Given the description of an element on the screen output the (x, y) to click on. 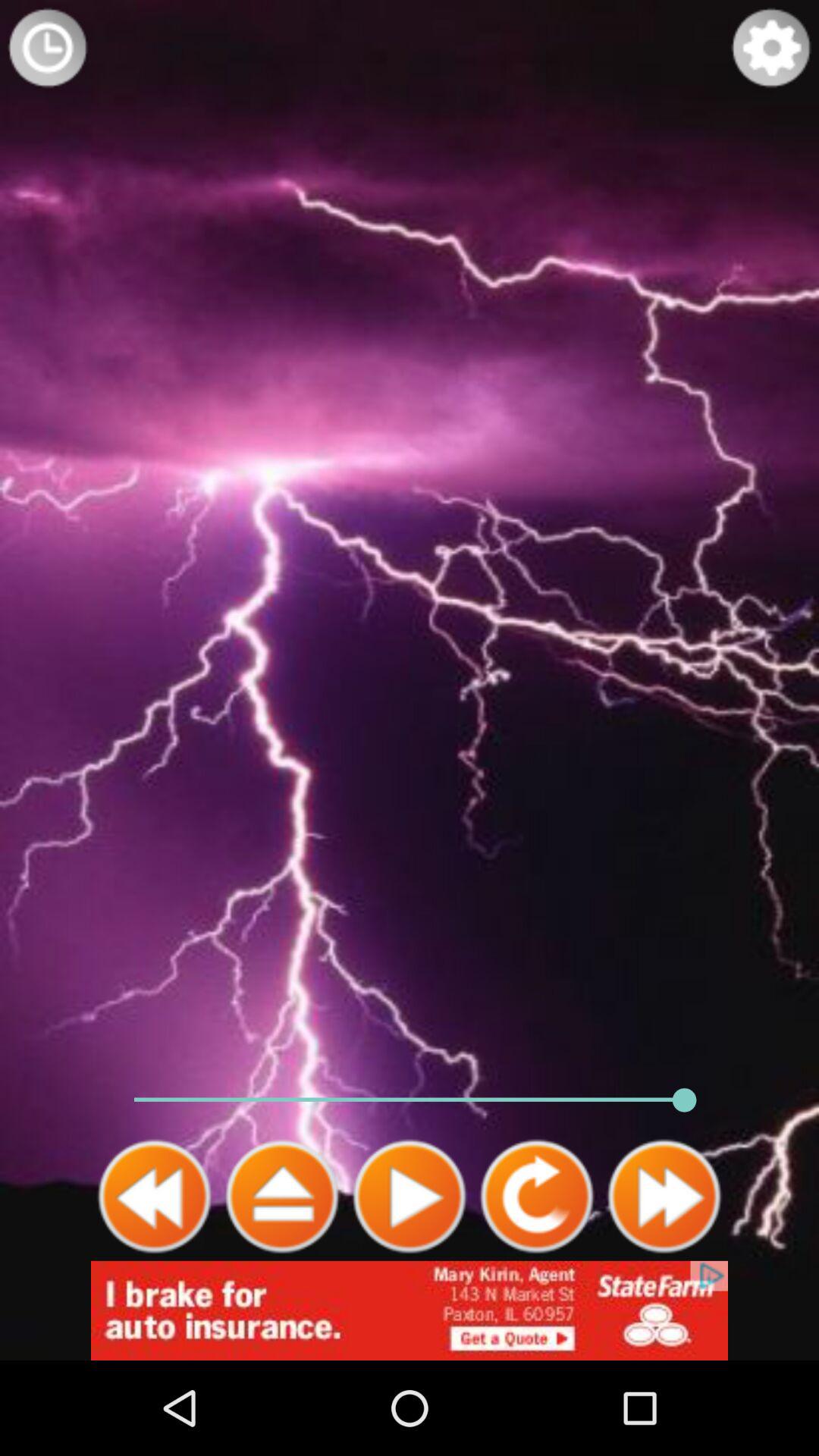
fast forward (664, 1196)
